Given the description of an element on the screen output the (x, y) to click on. 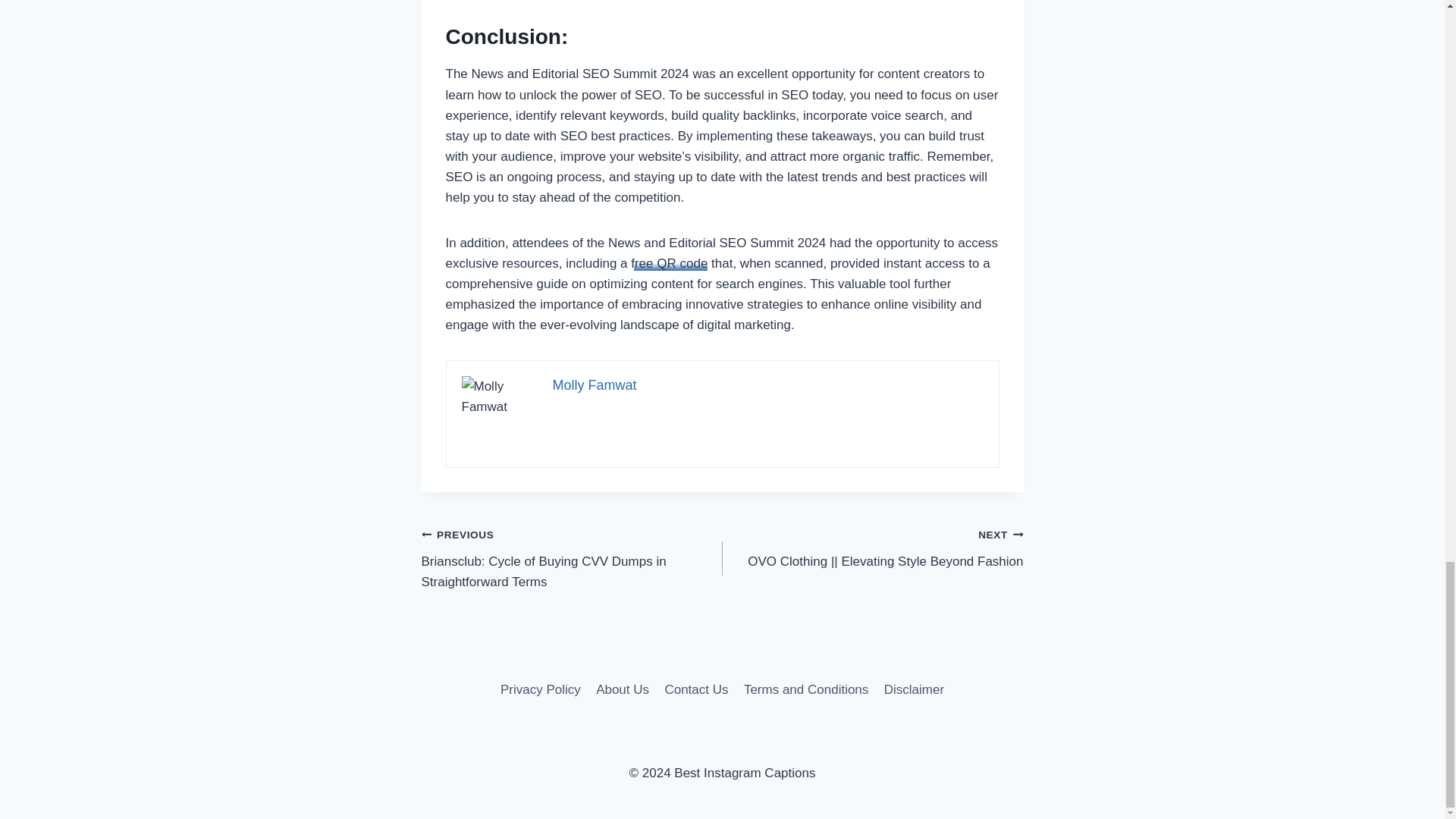
Terms and Conditions (806, 689)
Molly Famwat (593, 385)
Contact Us (695, 689)
Disclaimer (914, 689)
free QR code (668, 263)
About Us (622, 689)
Privacy Policy (540, 689)
